Given the description of an element on the screen output the (x, y) to click on. 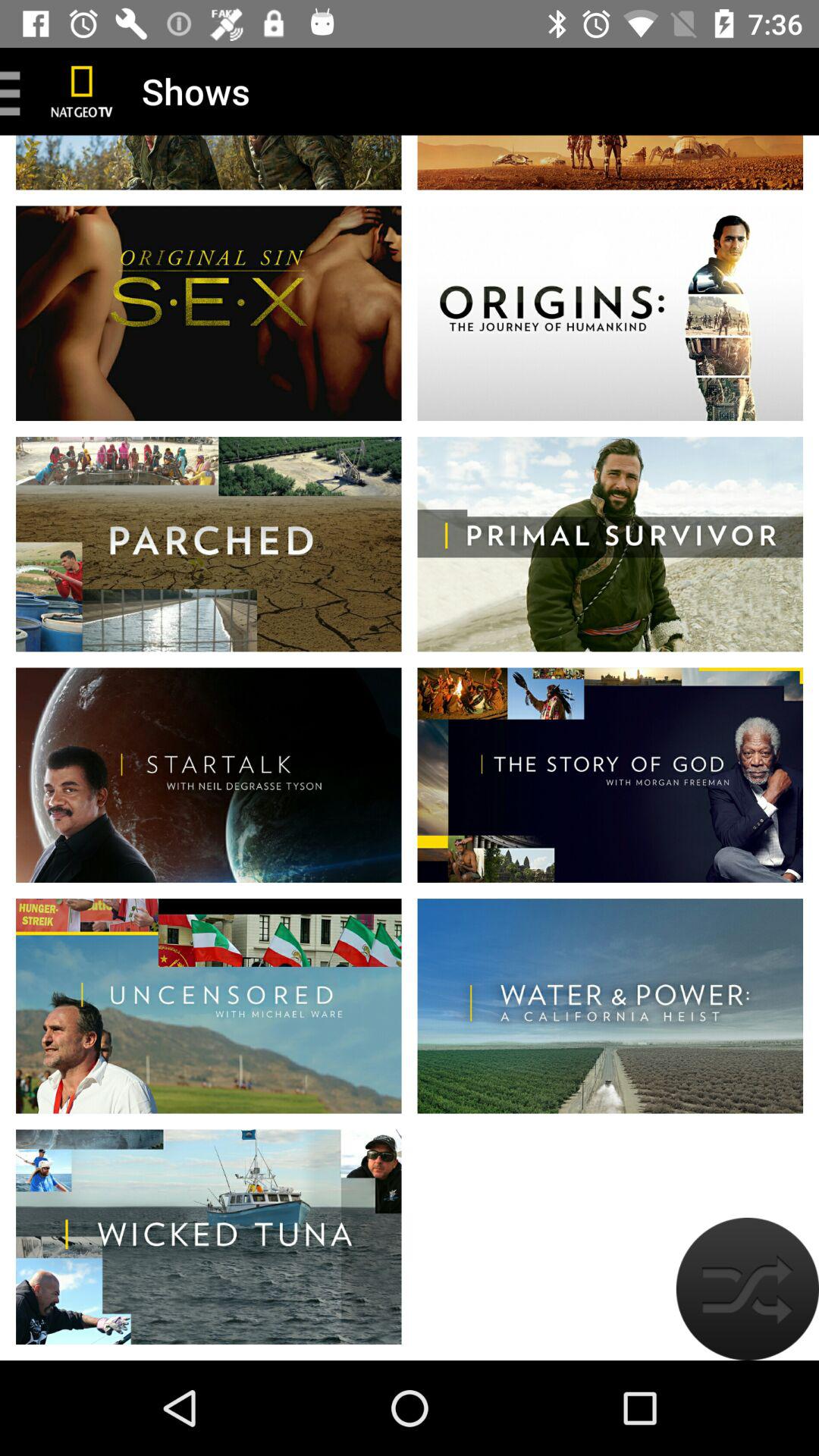
open settings (15, 91)
